Given the description of an element on the screen output the (x, y) to click on. 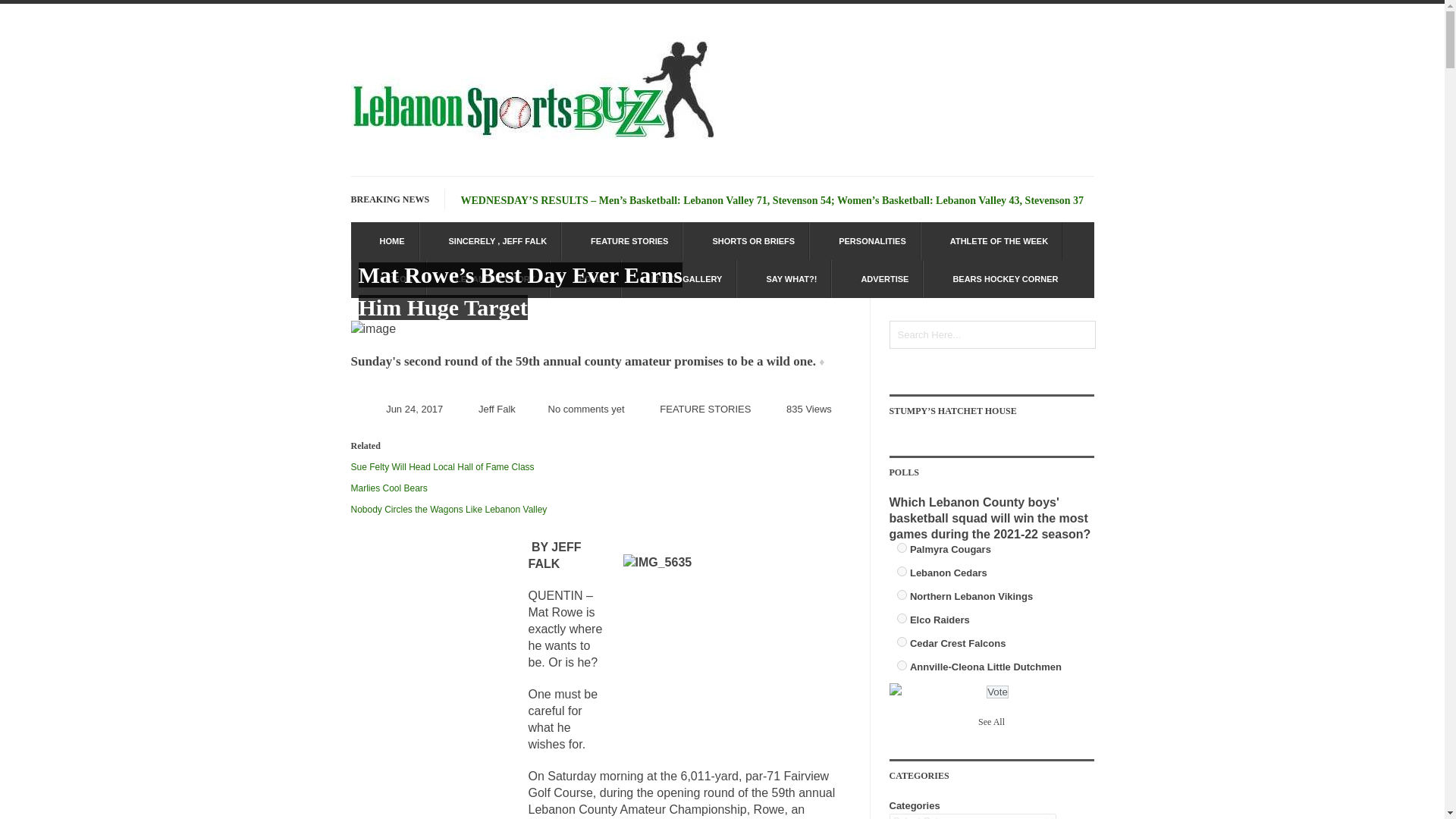
Marlies Cool Bears (388, 487)
715 (900, 547)
LEBANON LISTORY (488, 279)
Lebanon Sports Buzz (531, 144)
See All (991, 721)
Search Here... (991, 334)
No comments yet (585, 408)
Nobody Circles the Wagons Like Lebanon Valley (448, 508)
ATHLETE OF THE WEEK (991, 240)
   Vote    (998, 691)
